Given the description of an element on the screen output the (x, y) to click on. 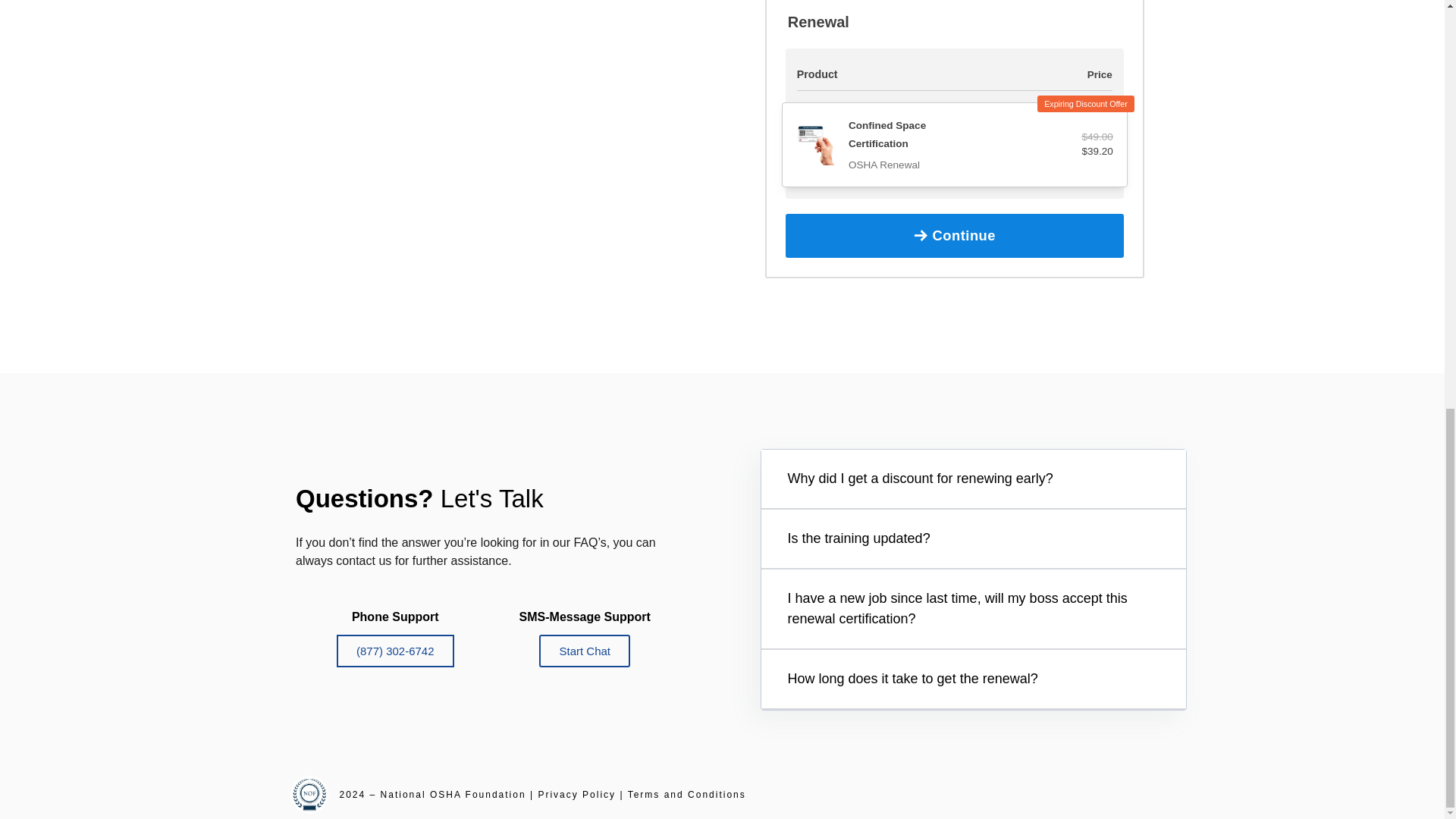
Privacy Policy (576, 794)
Why did I get a discount for renewing early? (919, 478)
How long does it take to get the renewal? (911, 678)
Continue (955, 235)
Terms and Conditions (686, 794)
Is the training updated? (858, 538)
Start Chat (584, 650)
